Given the description of an element on the screen output the (x, y) to click on. 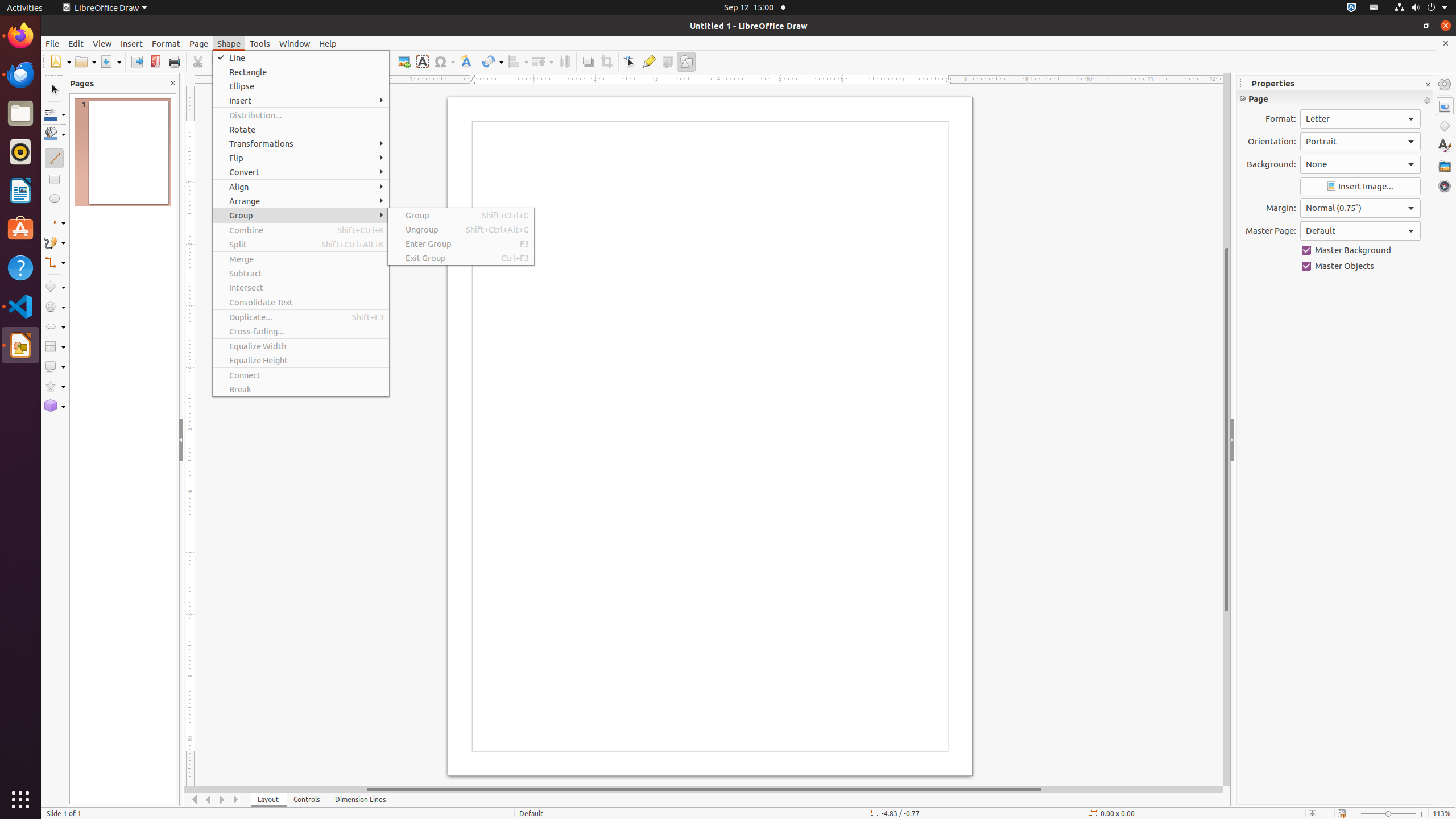
Text Box Element type: push-button (421, 61)
Copy Element type: push-button (216, 61)
Helplines While Moving Element type: toggle-button (361, 61)
Margin: Element type: combo-box (1360, 207)
Exit Group Element type: menu-item (460, 257)
